Given the description of an element on the screen output the (x, y) to click on. 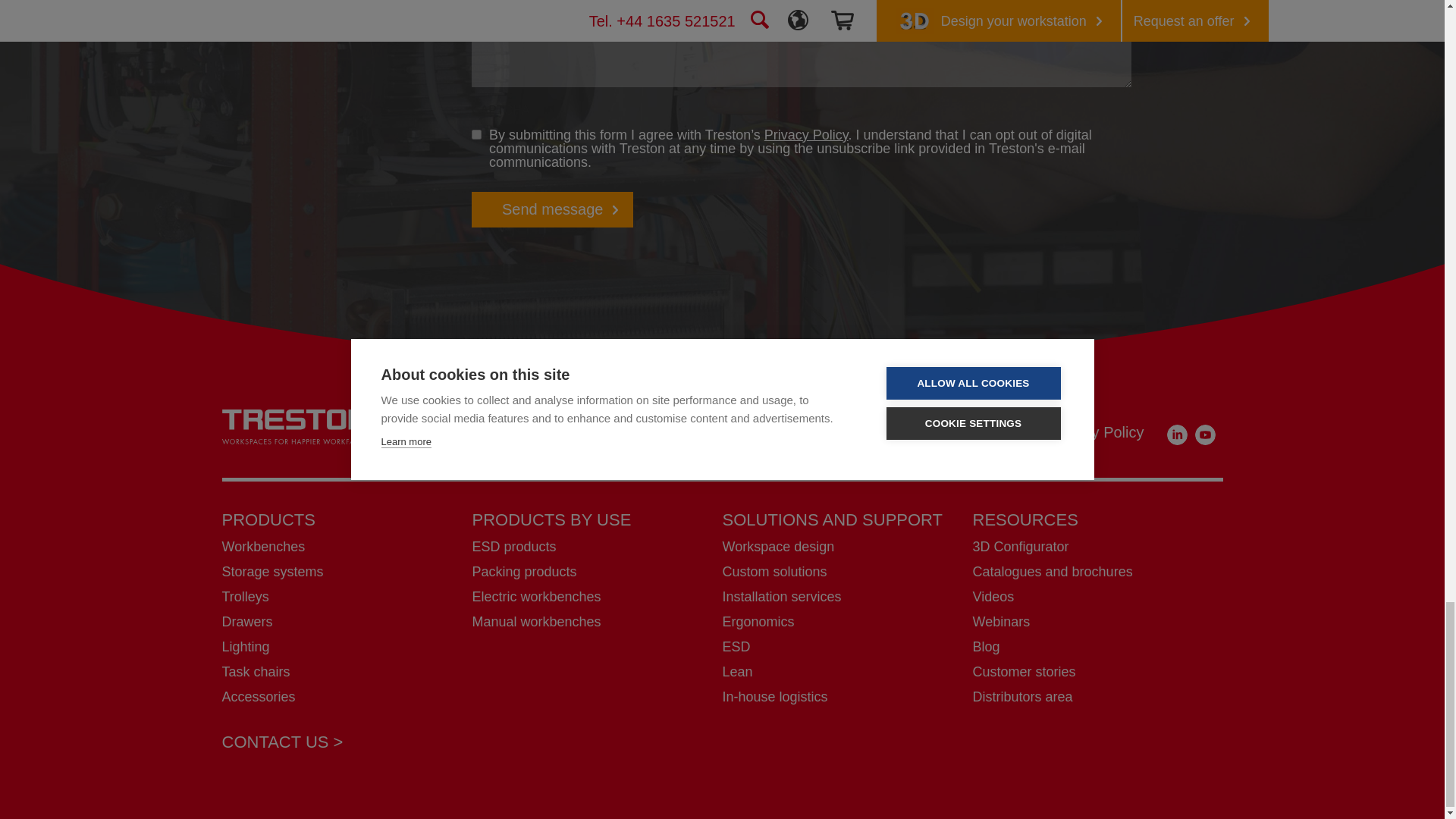
1 (476, 134)
Send message (552, 209)
